Given the description of an element on the screen output the (x, y) to click on. 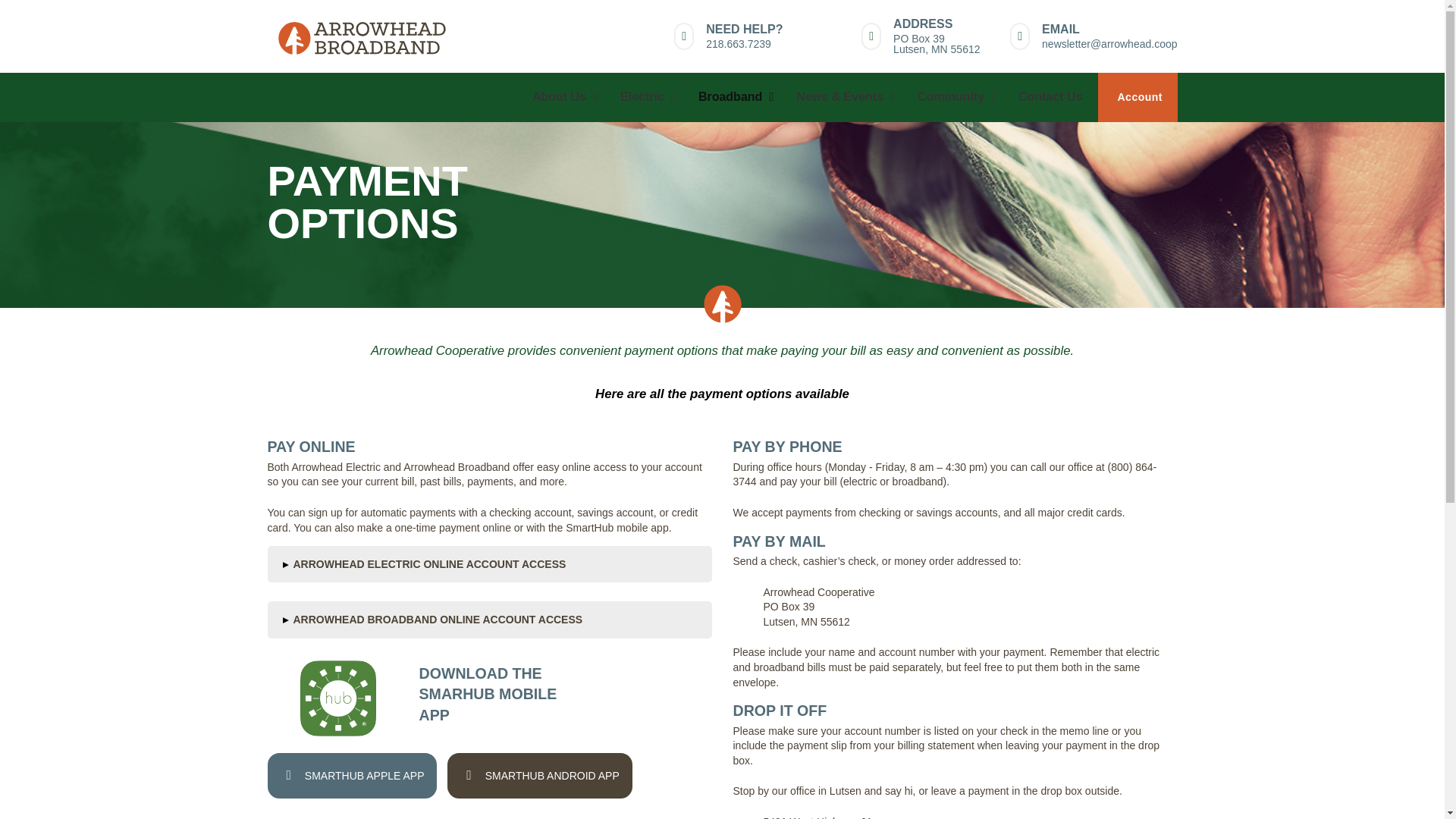
About Us (560, 97)
Broadband (731, 97)
Electric (643, 97)
